Given the description of an element on the screen output the (x, y) to click on. 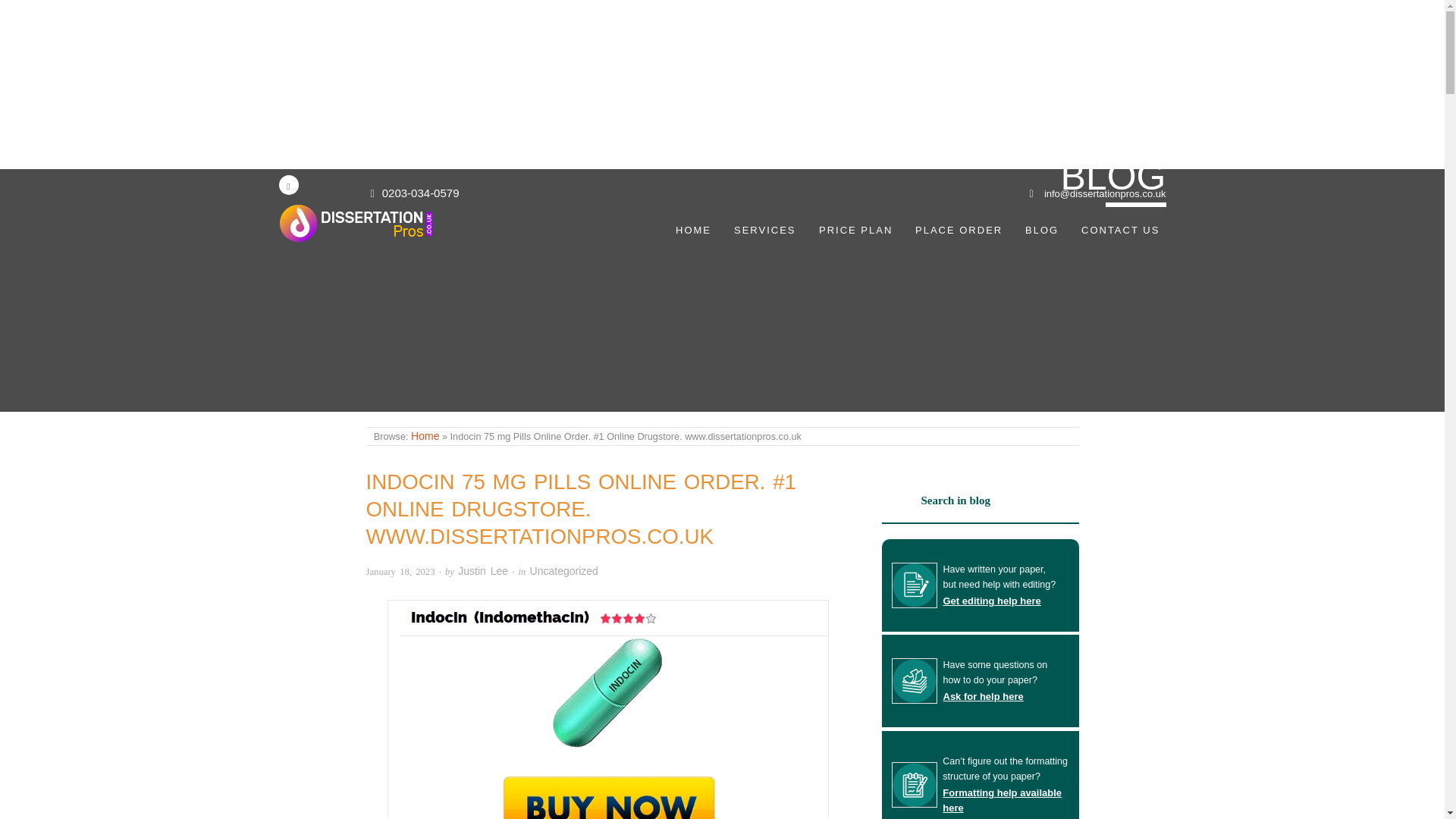
Home (424, 435)
Justin Lee (483, 571)
Justin Lee (483, 571)
PLACE ORDER (958, 229)
Get editing help here (992, 600)
Formatting help available here (1001, 800)
Wednesday, January 18th, 2023, 5:47 am (399, 571)
BLOG (1041, 229)
SERVICES (764, 229)
Uncategorized (563, 571)
HOME (693, 229)
PRICE PLAN (854, 229)
Ask for help here (983, 696)
Dissertation Pros Blog (424, 435)
CONTACT US (1120, 229)
